Given the description of an element on the screen output the (x, y) to click on. 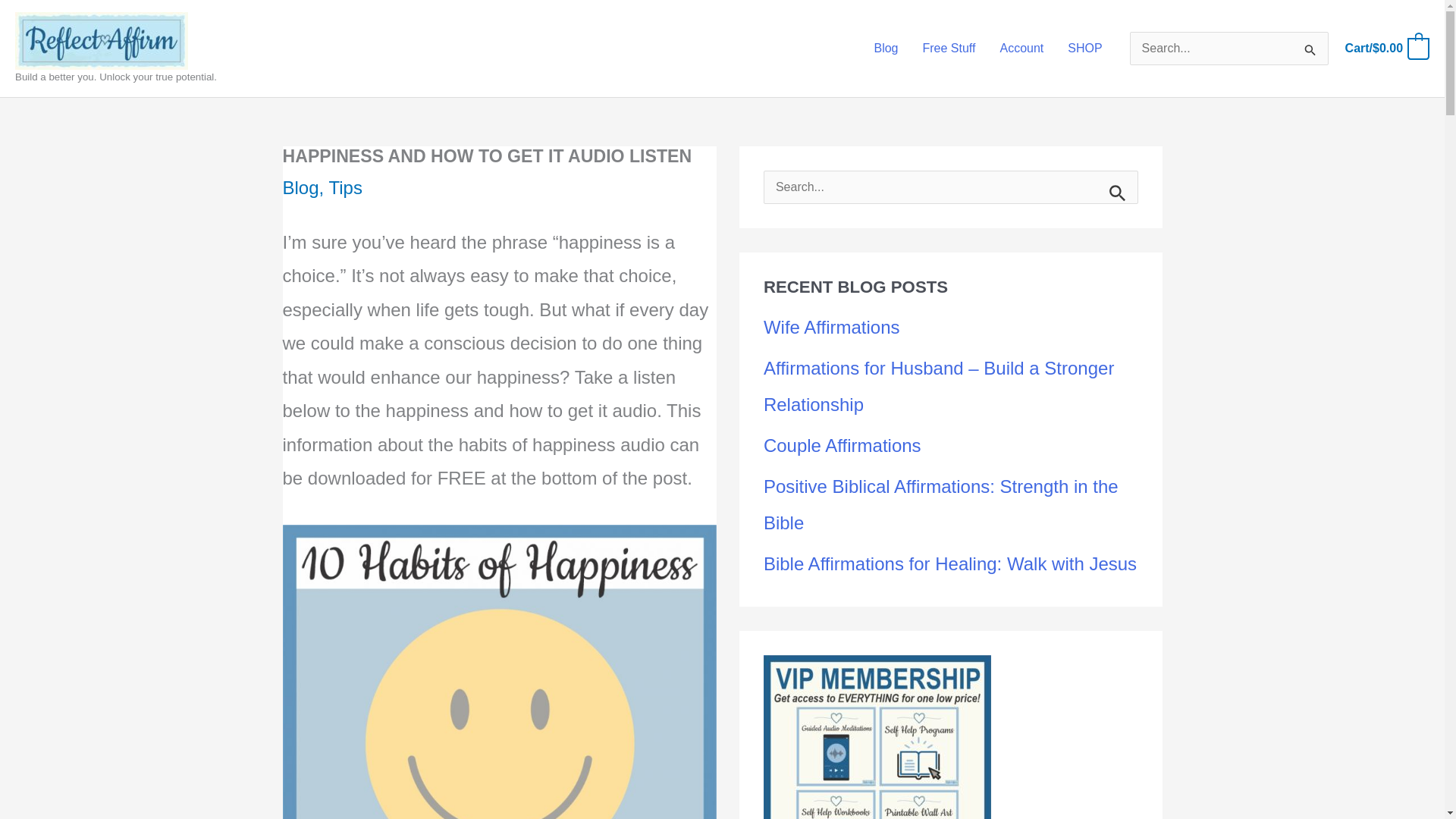
SHOP (1084, 48)
Blog (885, 48)
Blog (300, 187)
Free Stuff (948, 48)
Tips (345, 187)
Account (1021, 48)
